Given the description of an element on the screen output the (x, y) to click on. 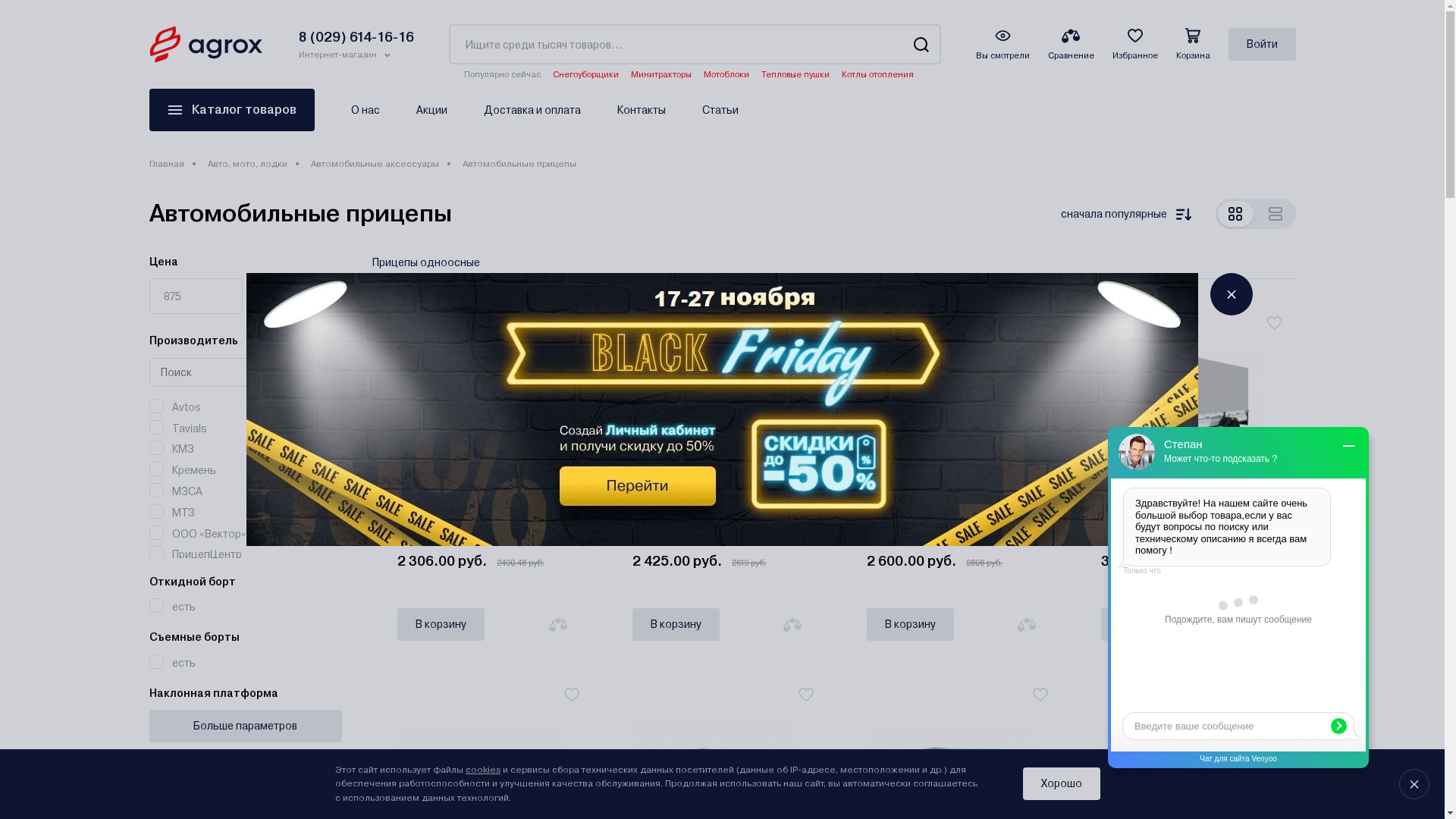
cookies Element type: text (482, 769)
